Given the description of an element on the screen output the (x, y) to click on. 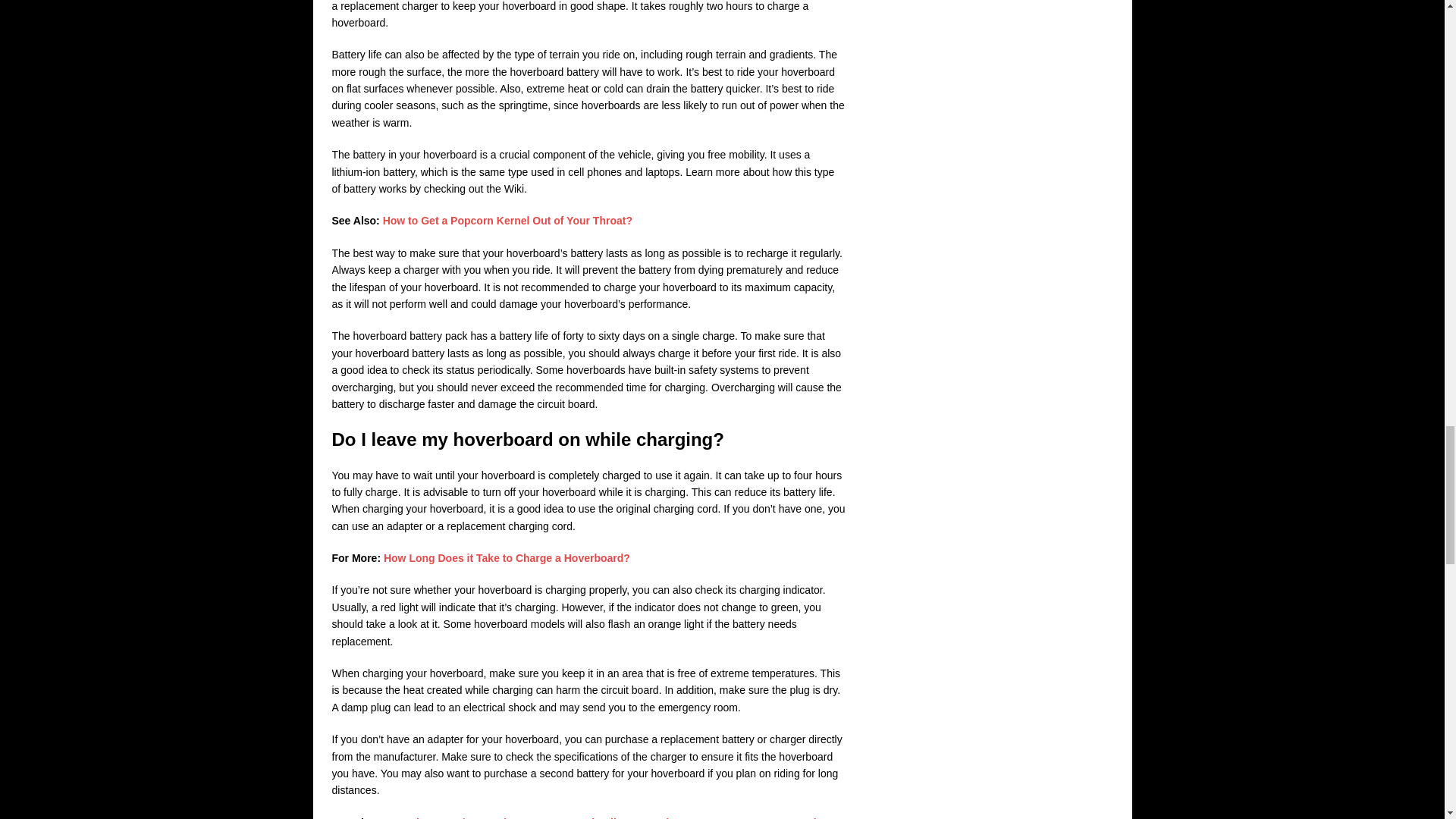
How Long Does it Take to Charge a Hoverboard? (507, 558)
How to Get a Popcorn Kernel Out of Your Throat? (506, 220)
